Given the description of an element on the screen output the (x, y) to click on. 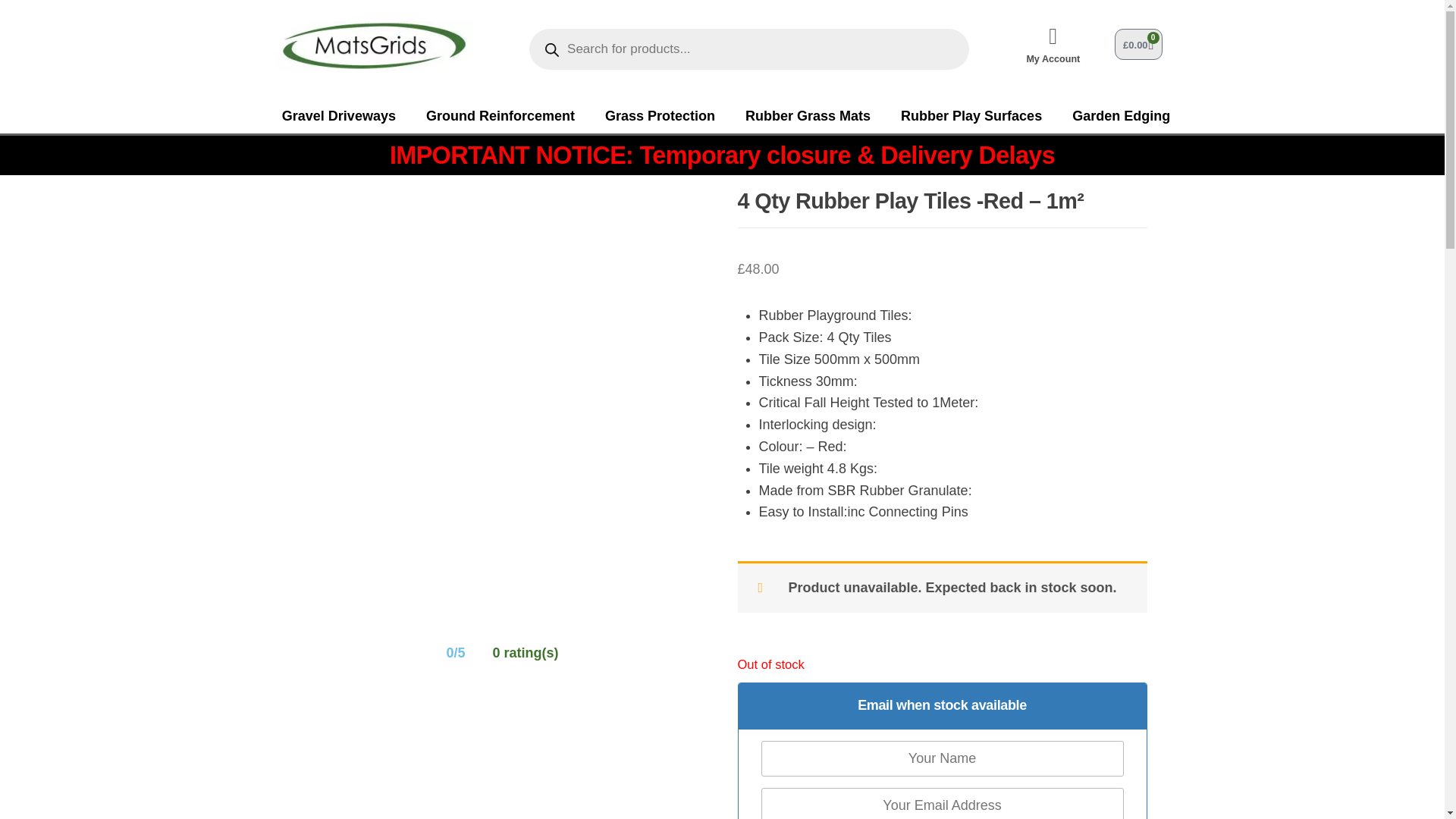
My Account (1053, 59)
Gravel Driveways (338, 115)
Grass Protection (659, 115)
Garden Edging (1121, 115)
Ground Reinforcement (499, 115)
Rubber Grass Mats (807, 115)
Rubber Play Surfaces (971, 115)
